Given the description of an element on the screen output the (x, y) to click on. 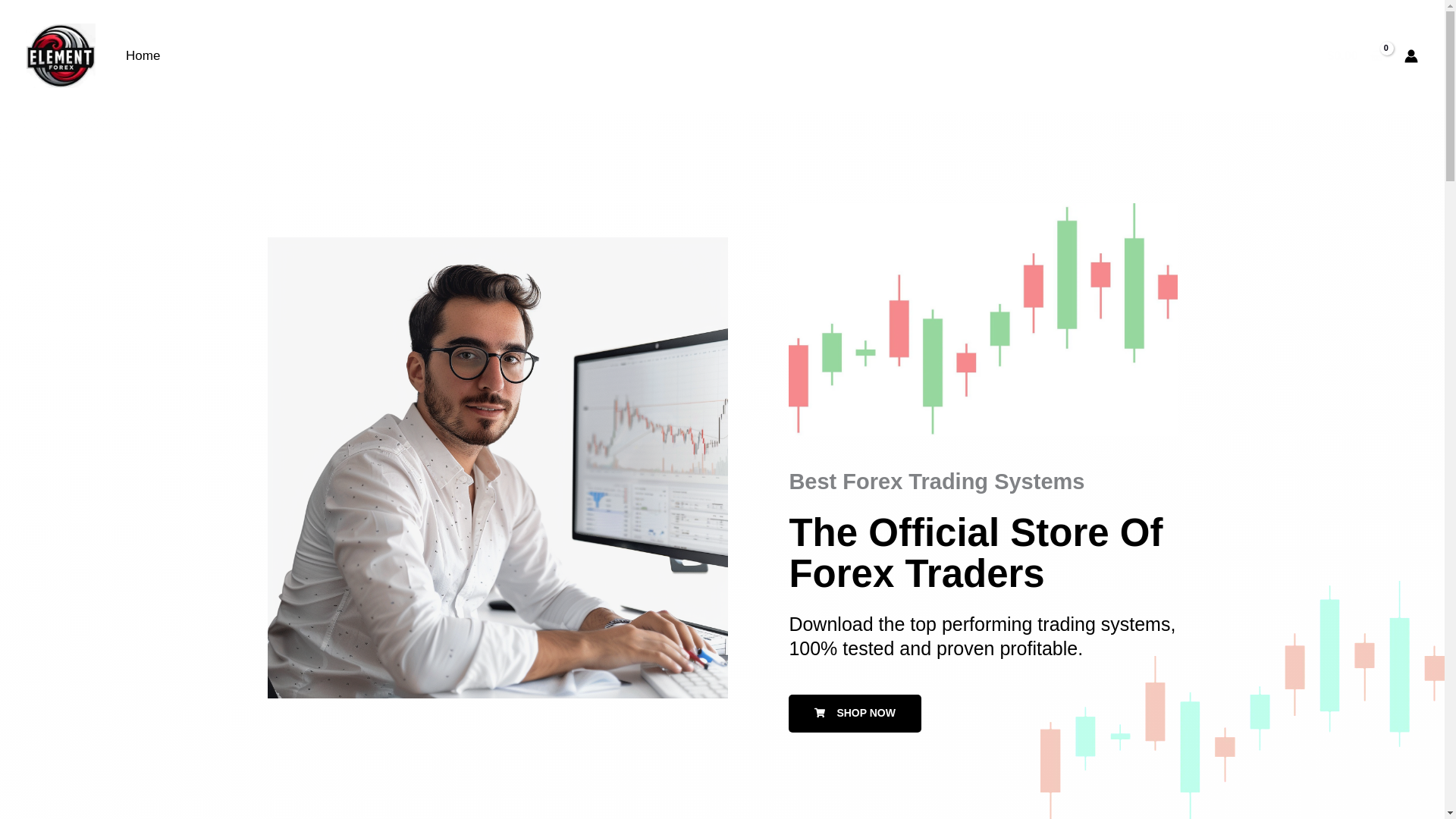
Home (142, 55)
About (1205, 55)
FAQ (317, 55)
My account (394, 55)
SHOP NOW (855, 713)
Cart (262, 55)
Contact (1271, 55)
Shop (204, 55)
